Given the description of an element on the screen output the (x, y) to click on. 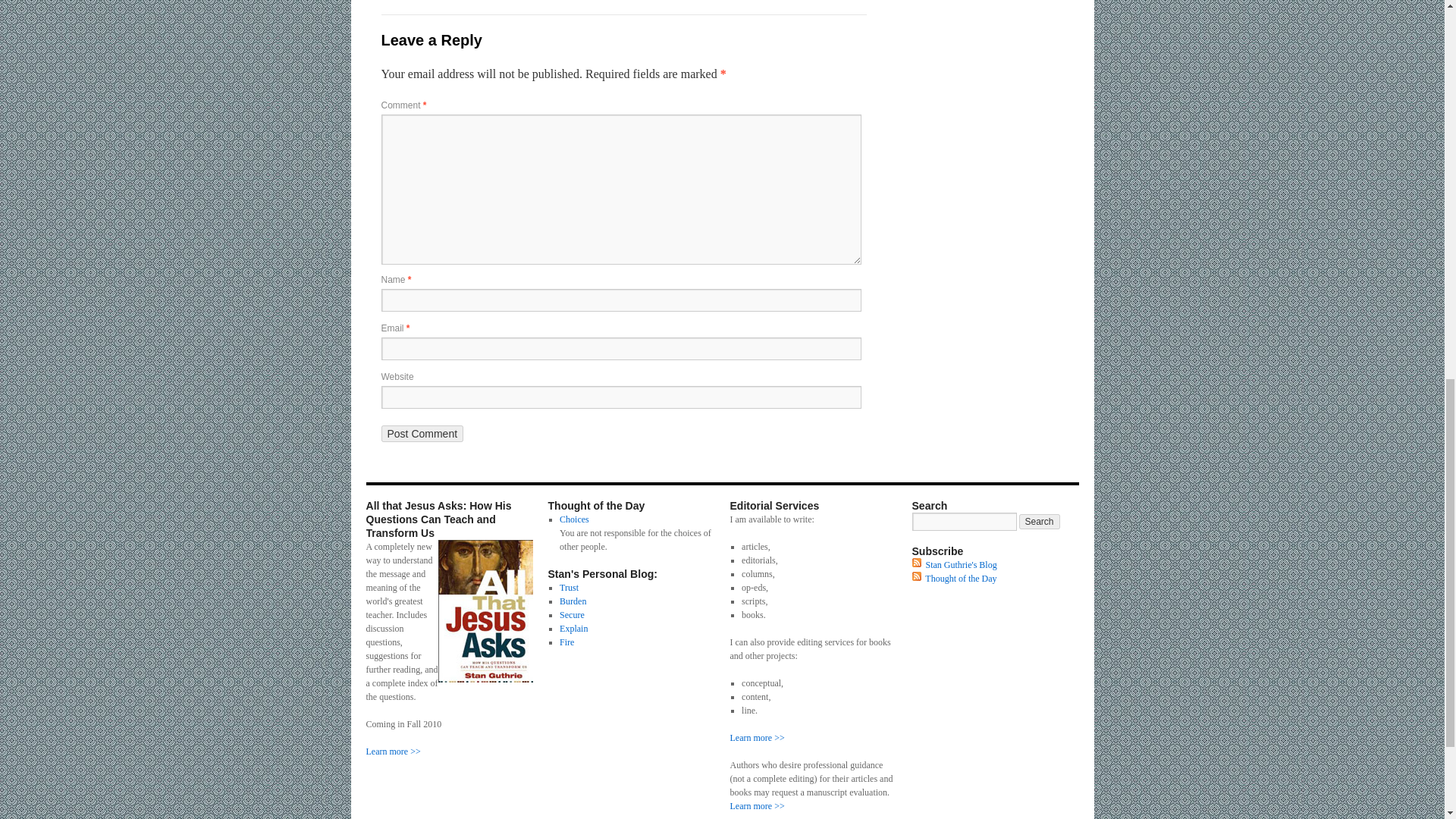
Post Comment (421, 433)
Search (1039, 521)
Permanent link to Choices (574, 519)
Post Comment (421, 433)
